Given the description of an element on the screen output the (x, y) to click on. 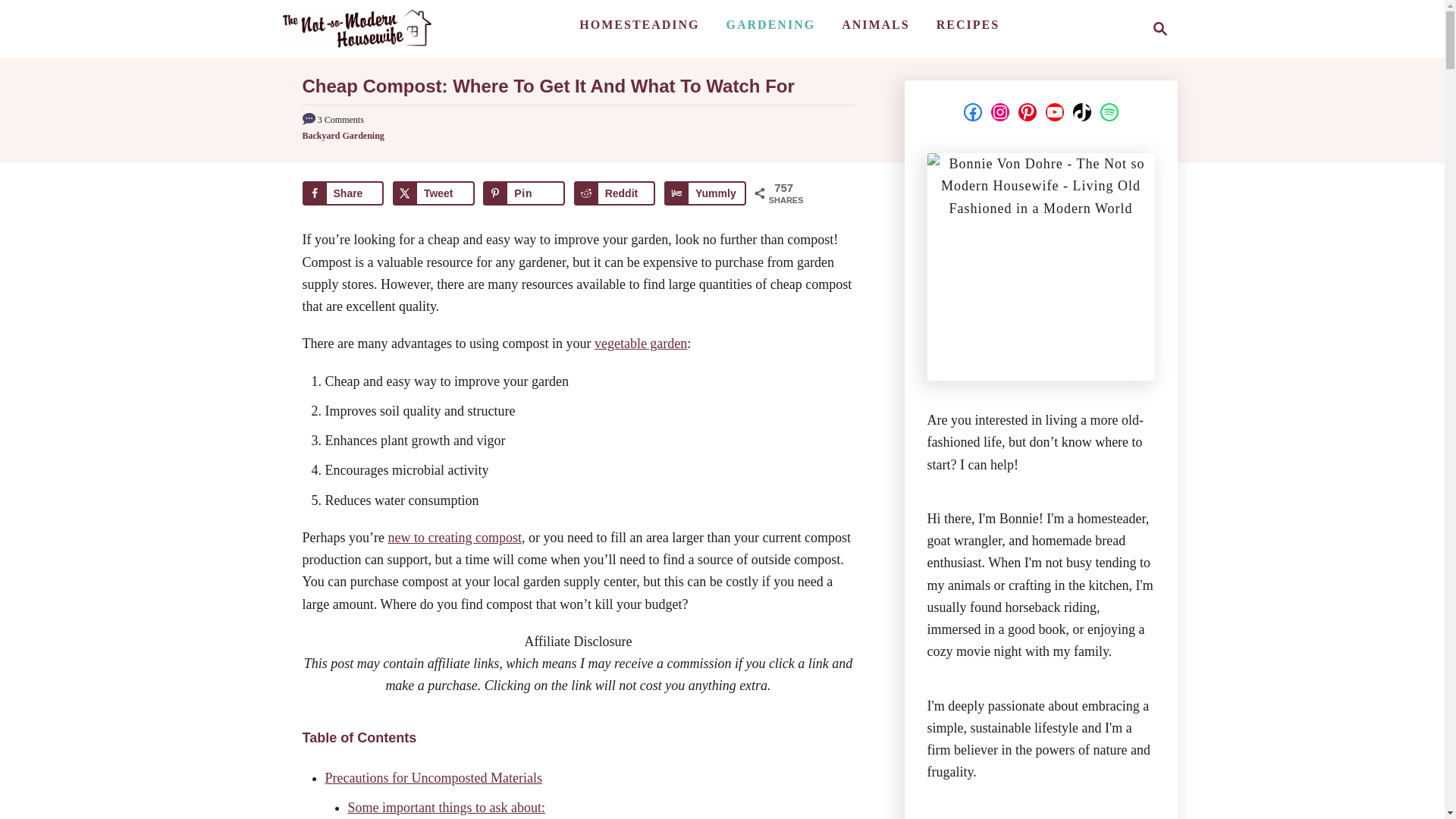
Tweet (433, 192)
vegetable garden (640, 343)
Share on Reddit (614, 192)
Magnifying Glass (1160, 28)
HOMESTEADING (639, 24)
Precautions for Uncomposted Materials (432, 777)
Pin (523, 192)
Some important things to ask about: (445, 807)
ANIMALS (875, 24)
The Not so Modern Housewife (356, 28)
